Given the description of an element on the screen output the (x, y) to click on. 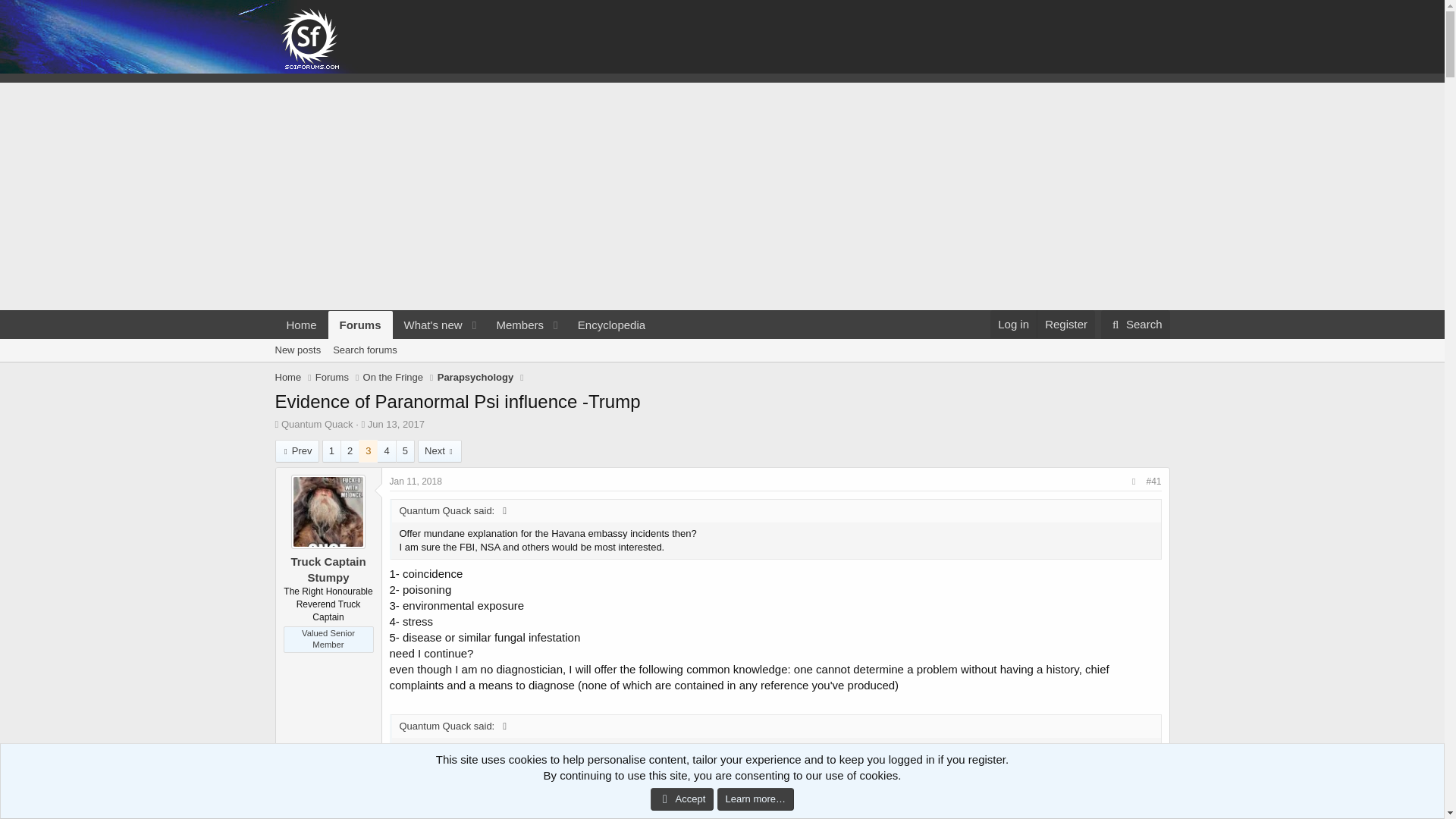
Encyclopedia (611, 325)
Members (464, 325)
Register (514, 325)
Log in (1065, 324)
Home (1013, 324)
New posts (301, 325)
Quantum Quack (296, 350)
Search (317, 423)
Advertisement (1135, 324)
Search (428, 325)
Jun 13, 2017 at 1:53 AM (1135, 324)
Home (396, 423)
Forums (288, 377)
